Given the description of an element on the screen output the (x, y) to click on. 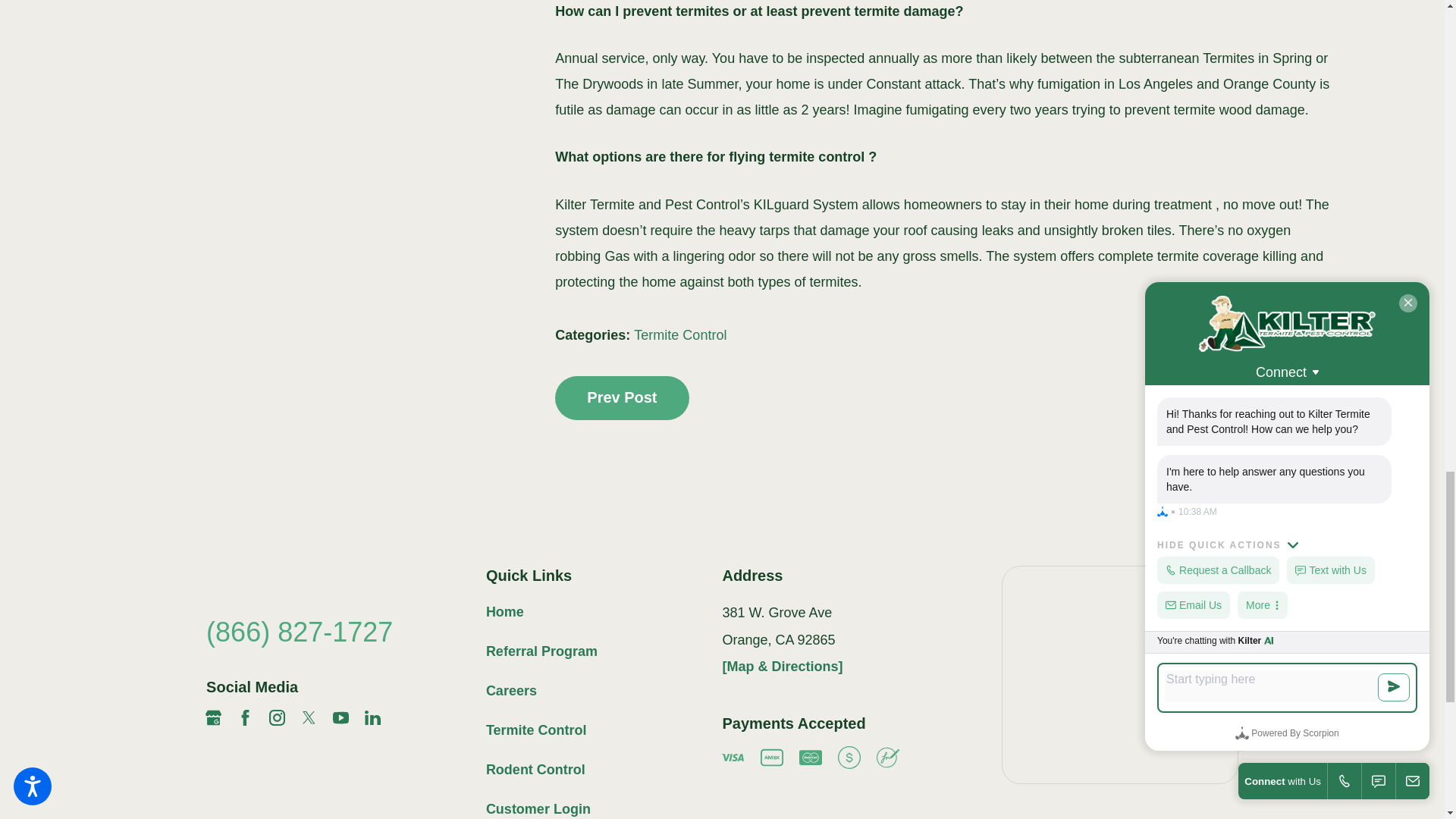
Facebook (245, 717)
Google Business Profile (213, 717)
Instagram (277, 717)
YouTube (341, 717)
Twitter (309, 717)
